Given the description of an element on the screen output the (x, y) to click on. 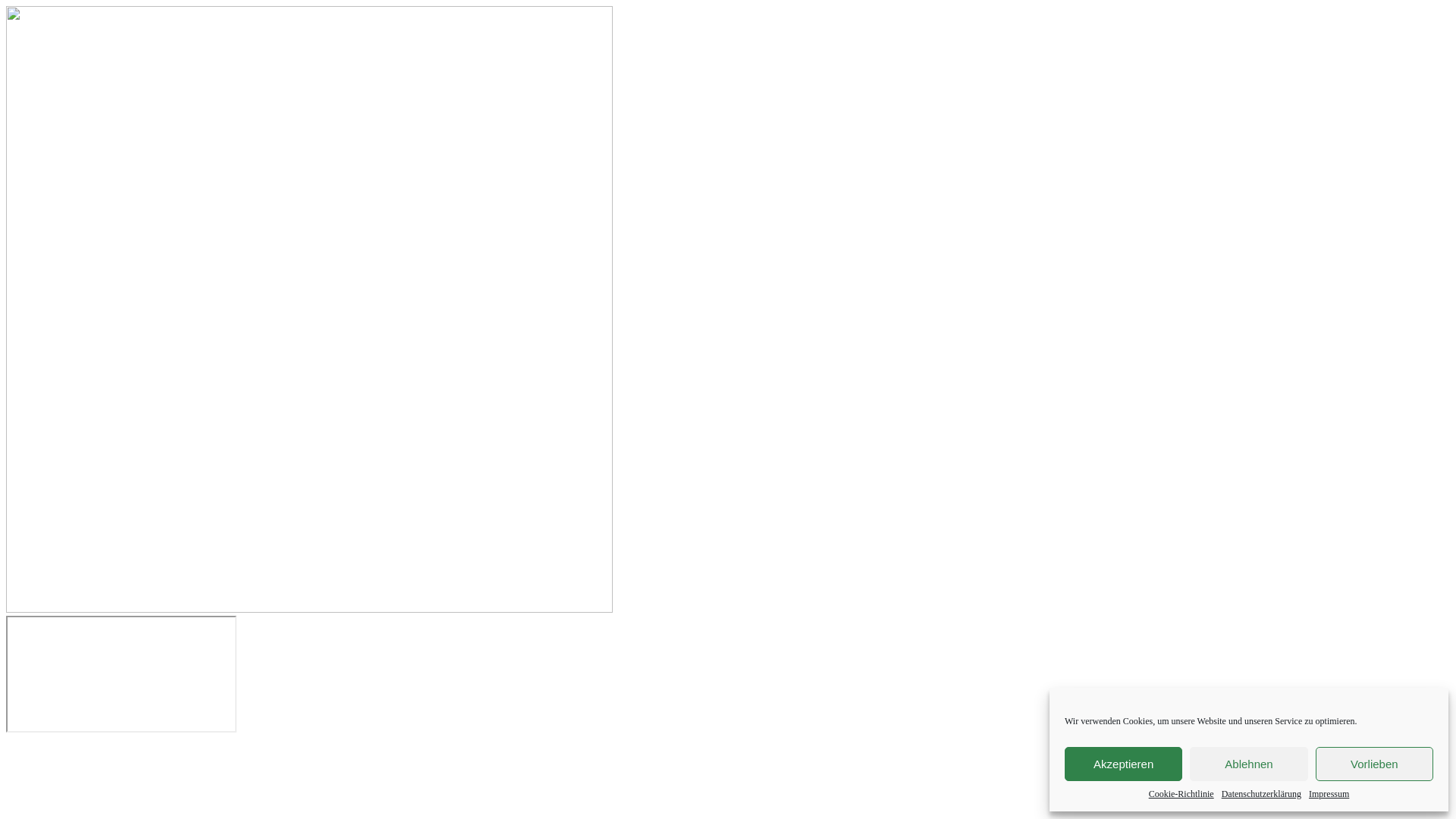
vimeo Video Player Element type: hover (121, 673)
Impressum Element type: text (1328, 794)
Akzeptieren Element type: text (1123, 763)
Vorlieben Element type: text (1374, 763)
Ablehnen Element type: text (1248, 763)
Cookie-Richtlinie Element type: text (1181, 794)
